Given the description of an element on the screen output the (x, y) to click on. 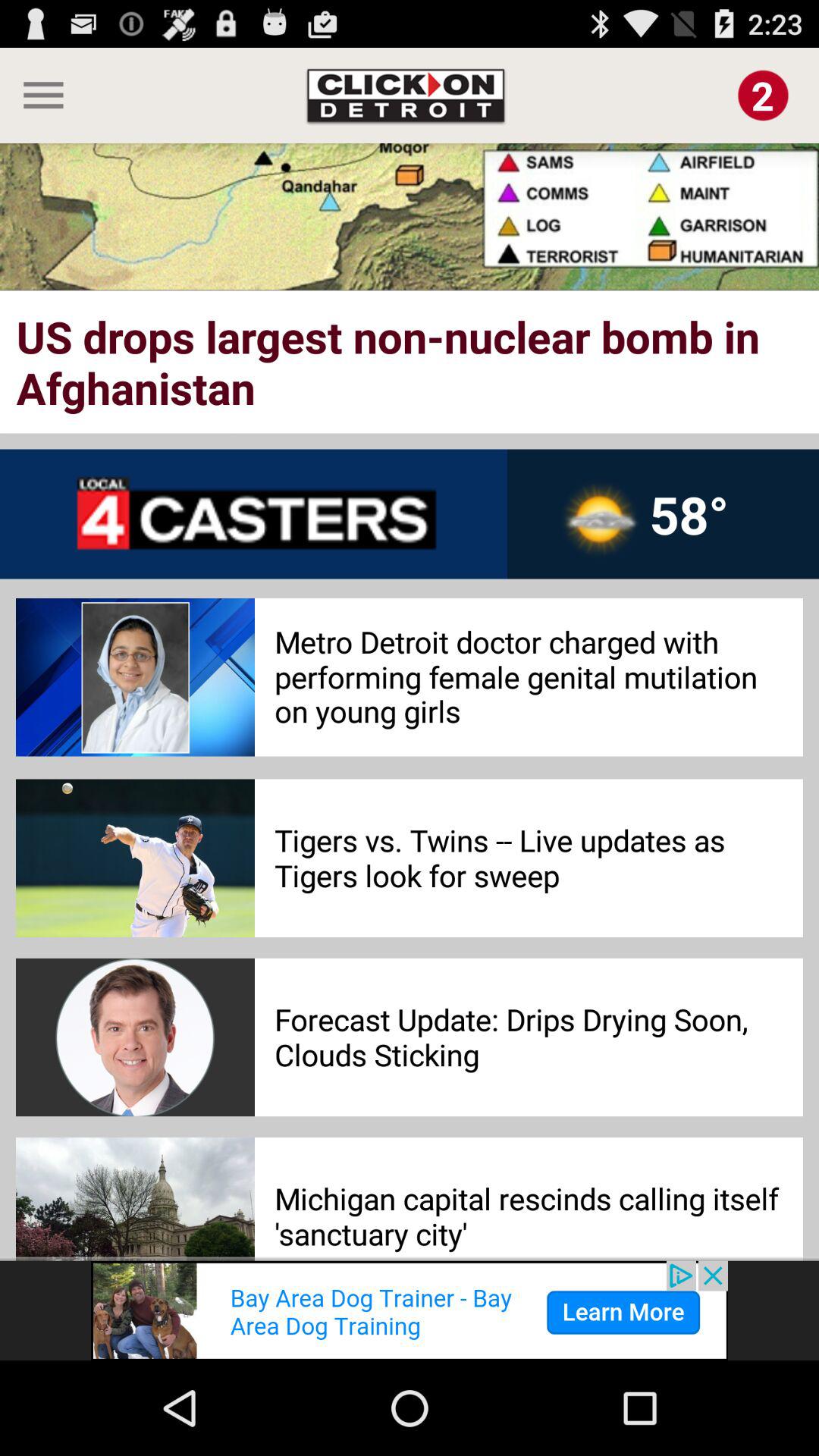
select the image which is left to forecast update (135, 1037)
select the text beside the 58 degrees (253, 514)
click the immediate option which is below 223 (763, 95)
